Given the description of an element on the screen output the (x, y) to click on. 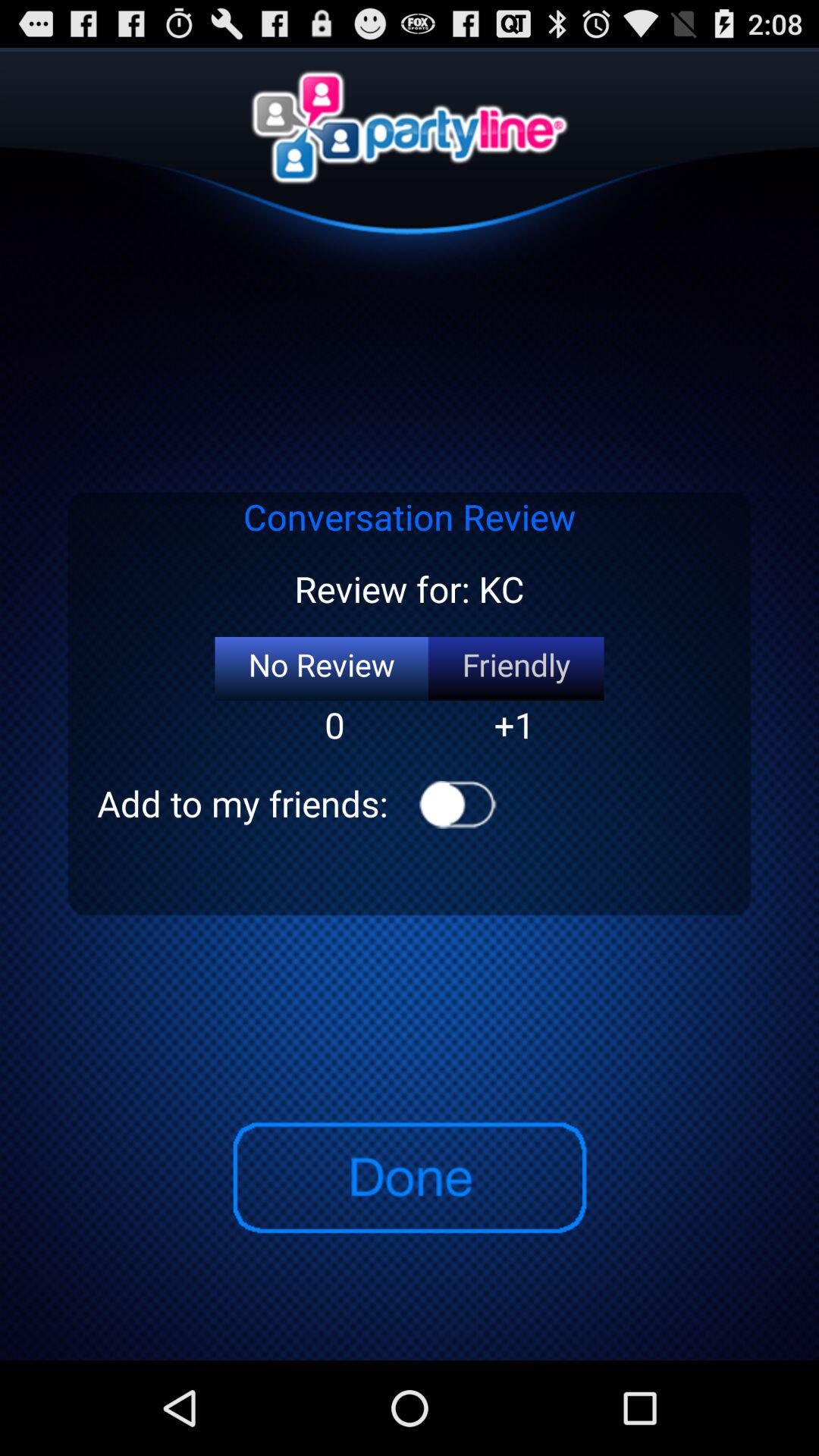
tap item below review for: kc item (321, 668)
